Given the description of an element on the screen output the (x, y) to click on. 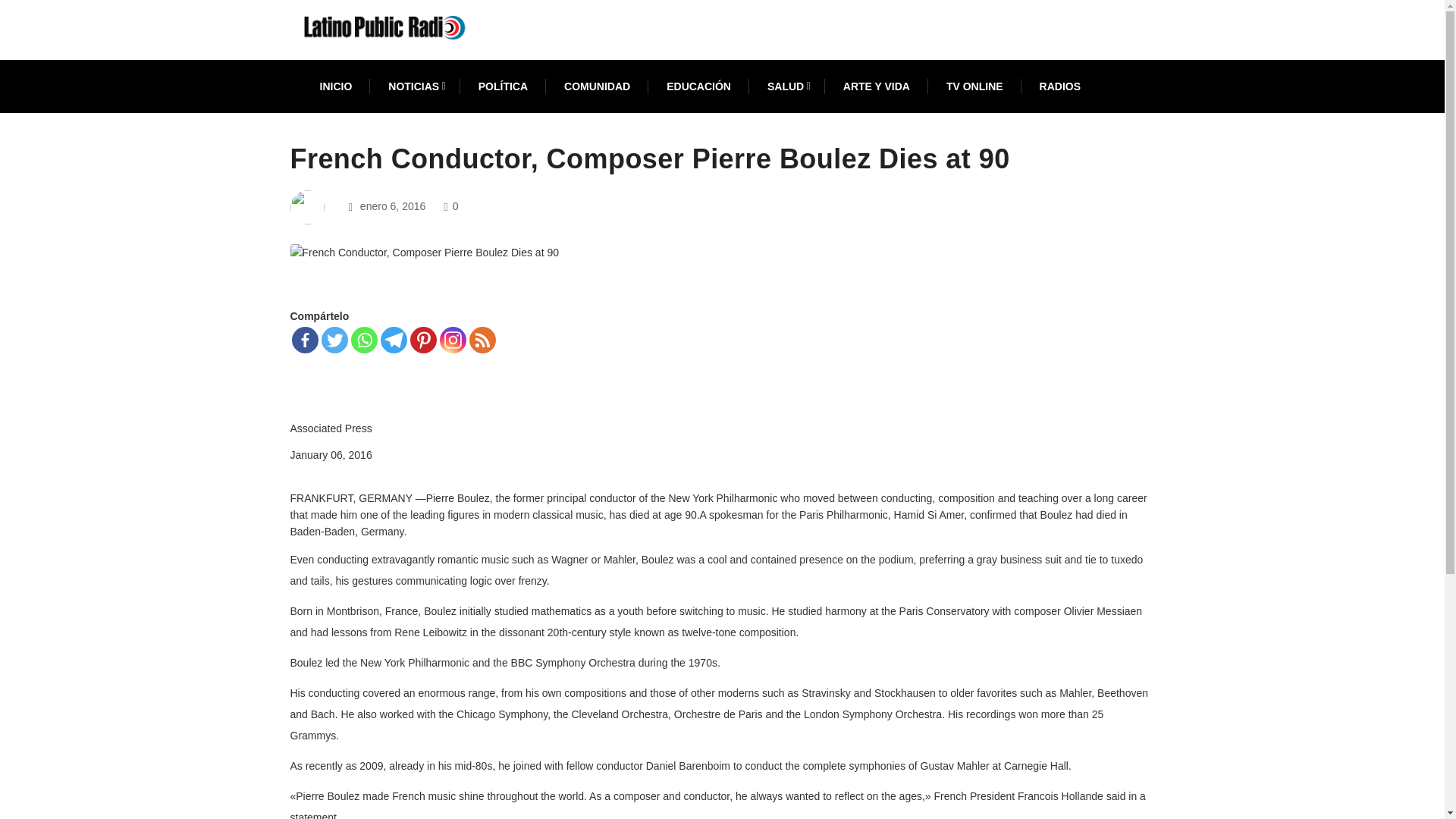
Facebook (304, 339)
Twitter (334, 339)
Whatsapp (363, 339)
COMUNIDAD (597, 86)
NOTICIAS (414, 86)
Telegram (393, 339)
ARTE Y VIDA (876, 86)
RSS Feed (481, 339)
TV ONLINE (974, 86)
Instagram (452, 339)
Pinterest (422, 339)
